Given the description of an element on the screen output the (x, y) to click on. 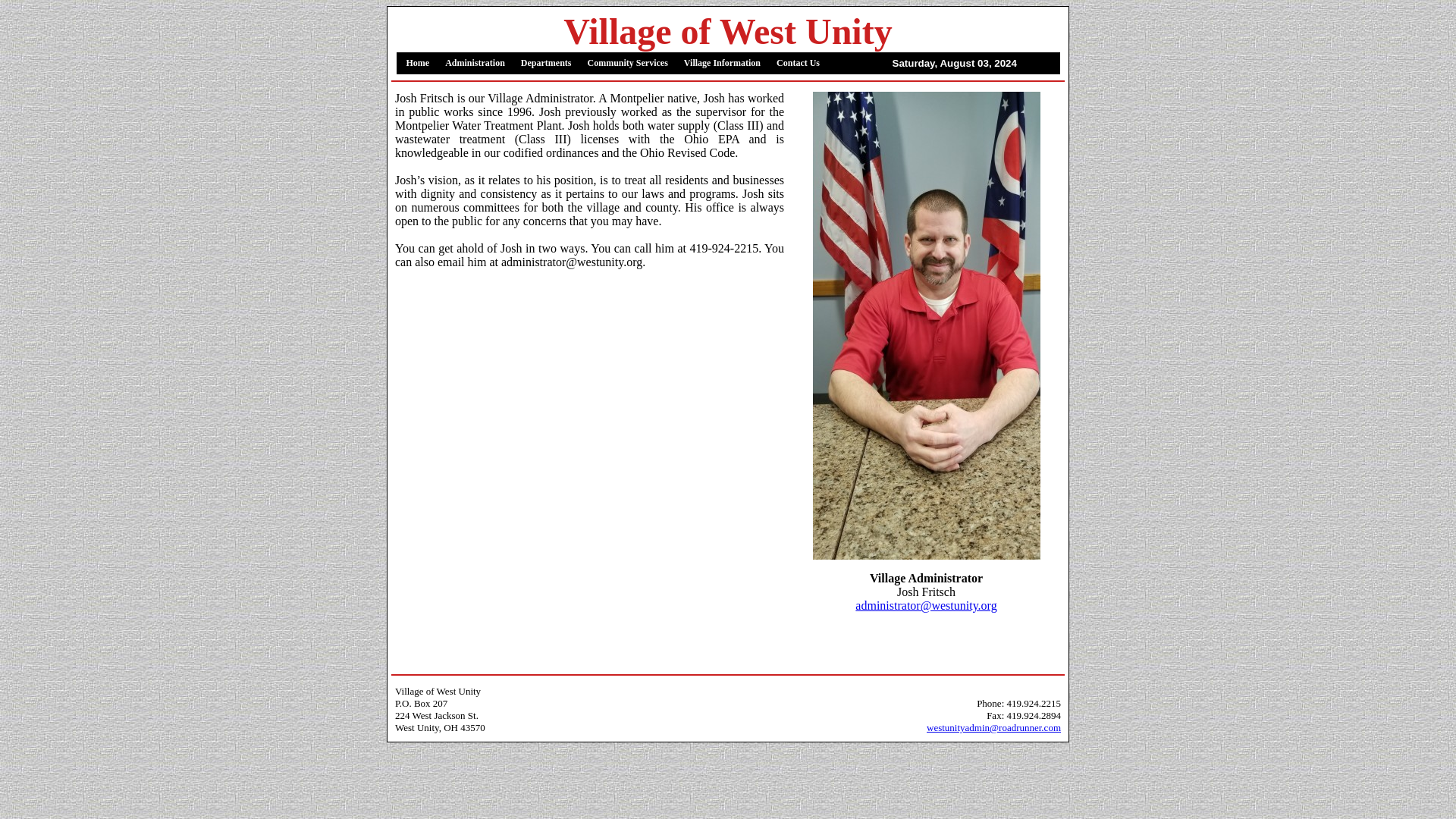
Village Information (722, 63)
Departments (546, 63)
Home (418, 63)
Community Services (627, 63)
Contact Us (797, 63)
Administration (475, 63)
